Given the description of an element on the screen output the (x, y) to click on. 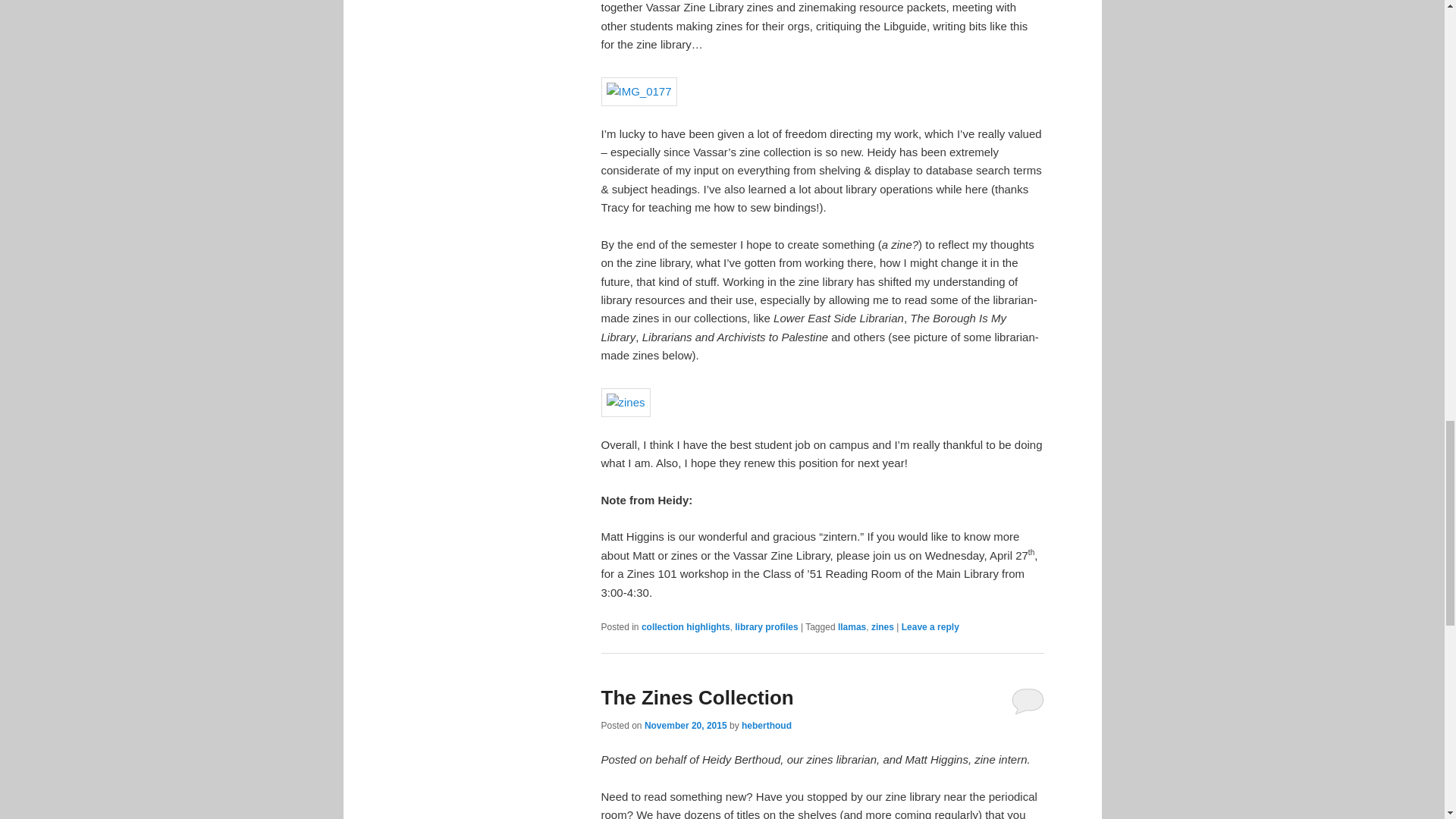
heberthoud (766, 725)
library profiles (766, 626)
View all posts by heberthoud (766, 725)
Leave a reply (930, 626)
zines (881, 626)
November 20, 2015 (685, 725)
llamas (852, 626)
11:36 am (685, 725)
The Zines Collection (696, 697)
collection highlights (686, 626)
